Given the description of an element on the screen output the (x, y) to click on. 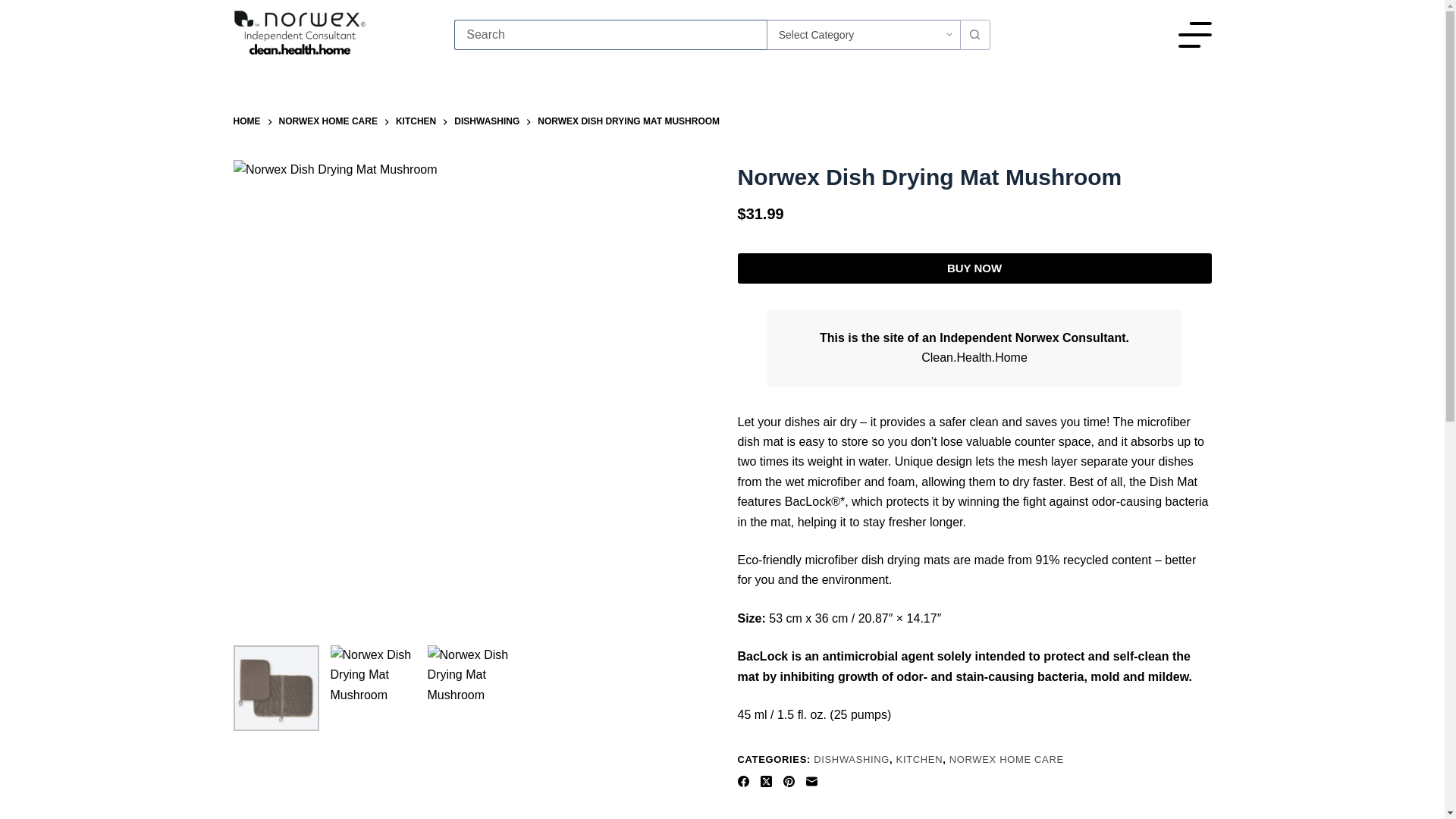
Norwex Dish Mat4 (275, 688)
Skip to content (15, 7)
Norwex Dish Mat6 (470, 688)
Search for... (609, 34)
Norwex Dish Mat5 (373, 688)
